Given the description of an element on the screen output the (x, y) to click on. 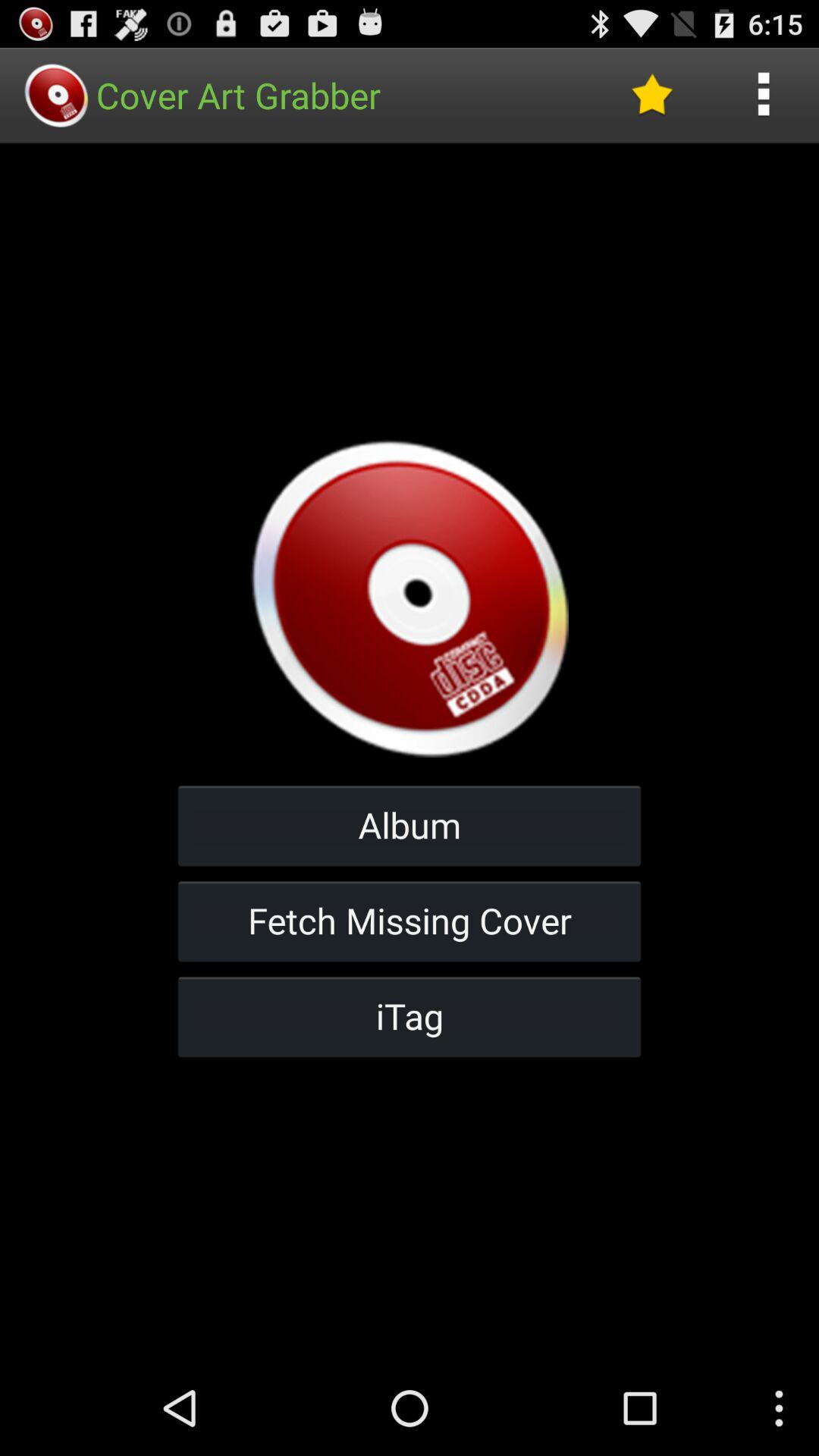
launch item below the album icon (409, 920)
